Given the description of an element on the screen output the (x, y) to click on. 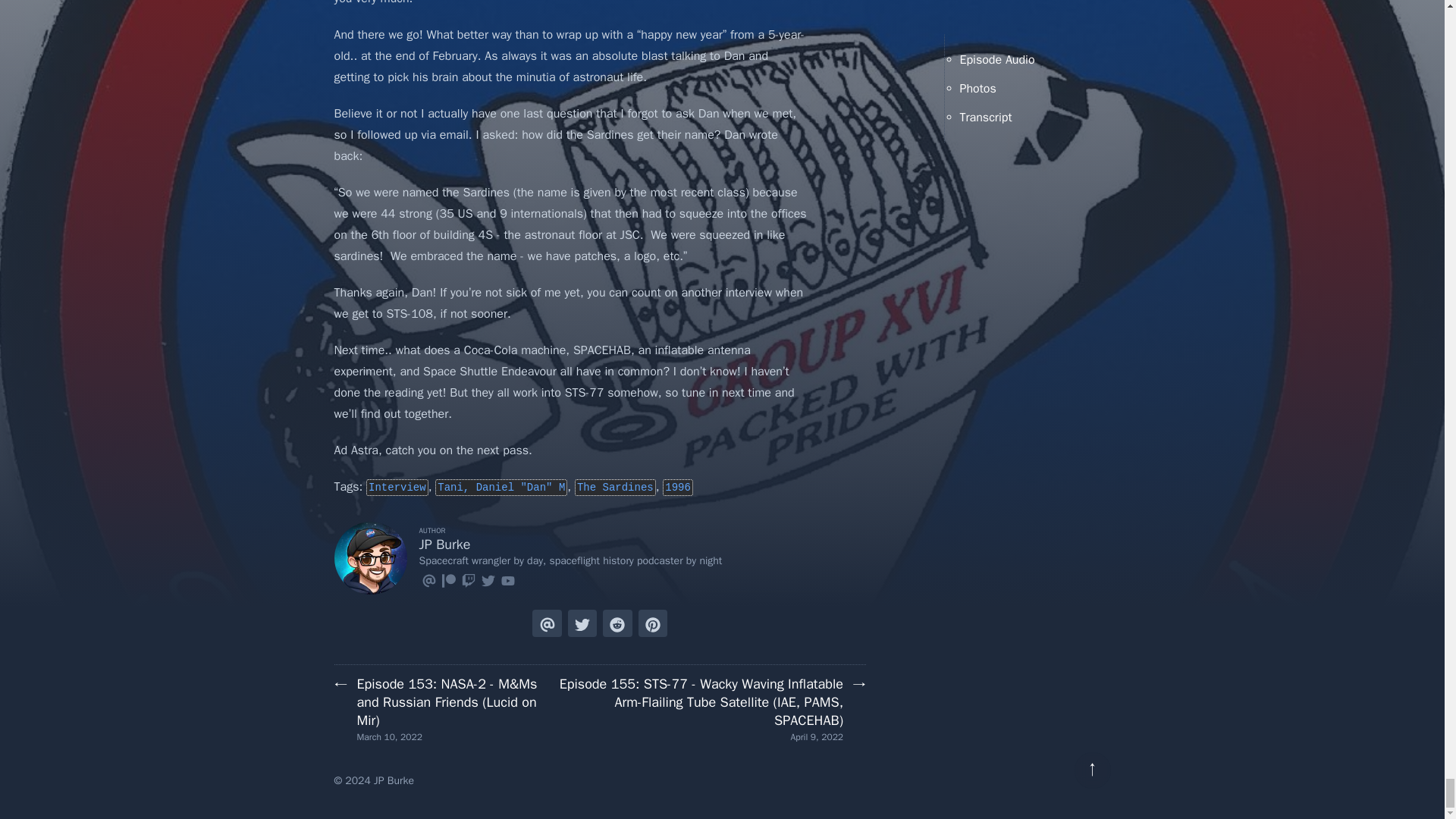
Send via email (546, 623)
Pin on Pinterest (652, 623)
Submit to Reddit (616, 623)
Tweet on Twitter (581, 623)
Tani, Daniel "Dan" M (501, 487)
The Sardines (615, 487)
Interview (397, 487)
